Given the description of an element on the screen output the (x, y) to click on. 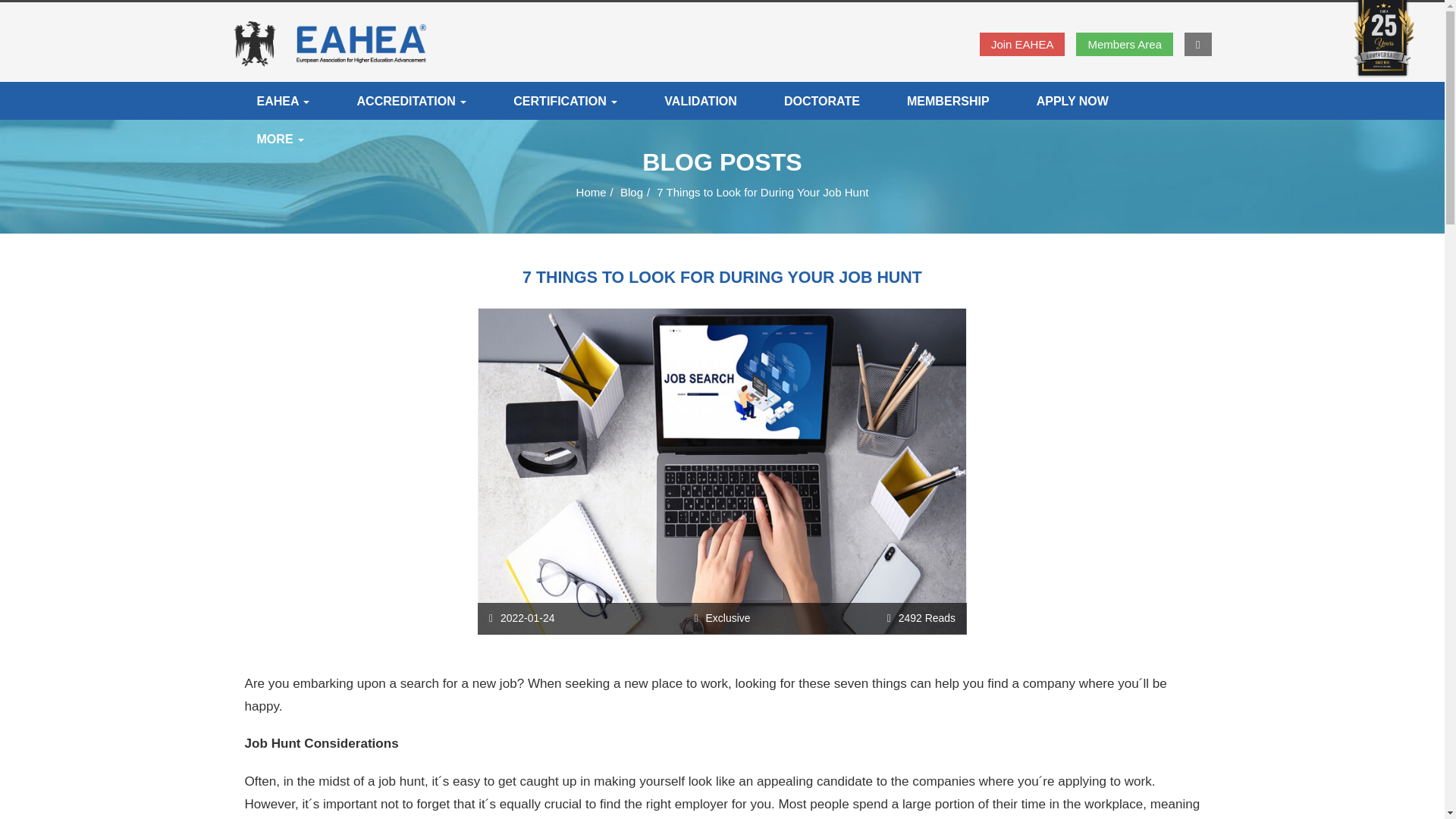
APPLY NOW (1072, 100)
ACCREDITATION (411, 100)
Members Area (1124, 44)
EAHEA (282, 100)
MEMBERSHIP (948, 100)
CERTIFICATION (564, 100)
MORE (280, 138)
DOCTORATE (821, 100)
Join EAHEA (1022, 44)
VALIDATION (700, 100)
